Given the description of an element on the screen output the (x, y) to click on. 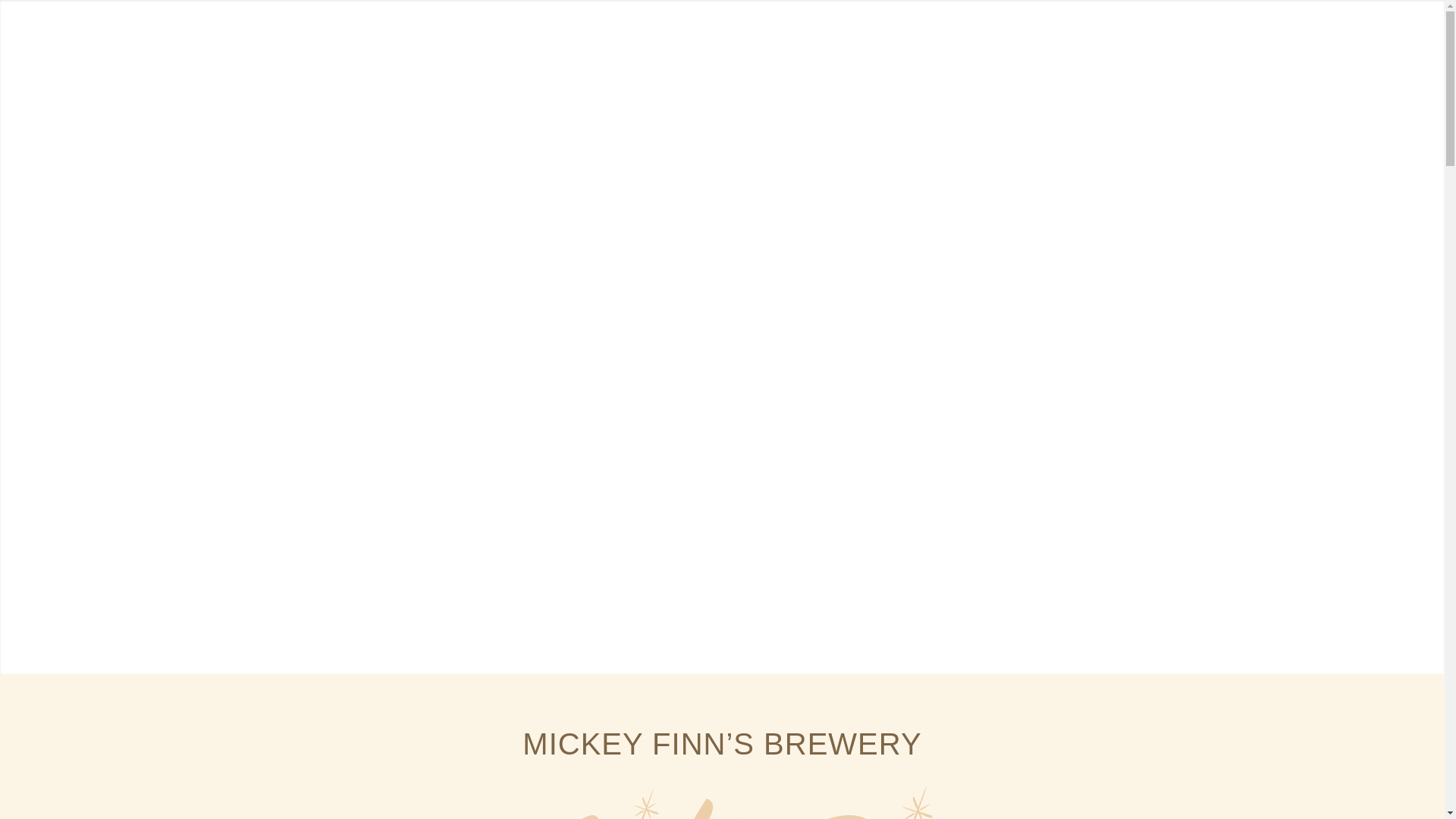
Testimonials (1069, 44)
